Given the description of an element on the screen output the (x, y) to click on. 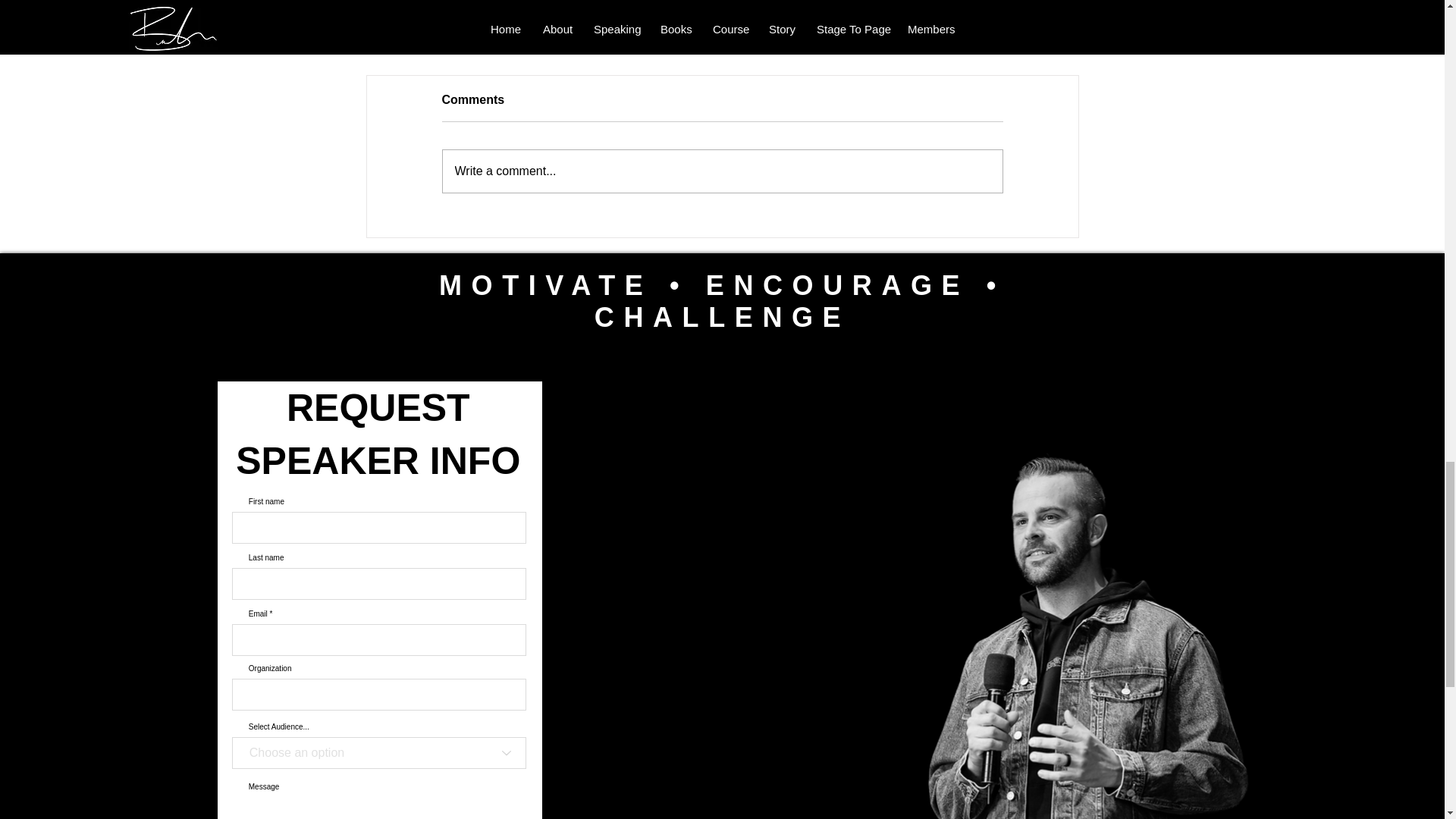
Post not marked as liked (1050, 22)
Write a comment... (722, 170)
0 (435, 22)
Post not marked as liked (804, 22)
Post not marked as liked (558, 22)
0 (681, 22)
0 (931, 22)
